Given the description of an element on the screen output the (x, y) to click on. 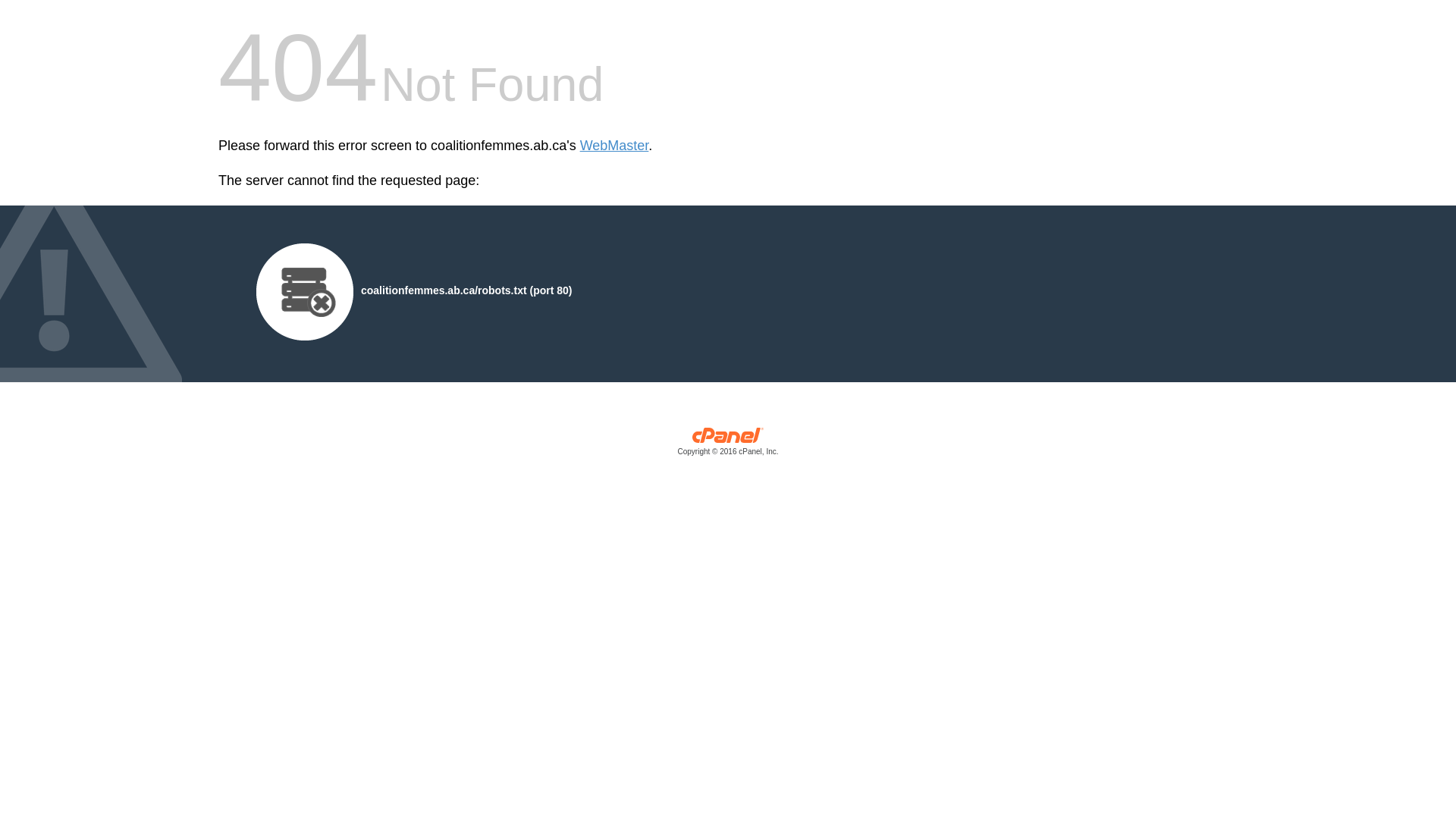
WebMaster Element type: text (614, 145)
